Given the description of an element on the screen output the (x, y) to click on. 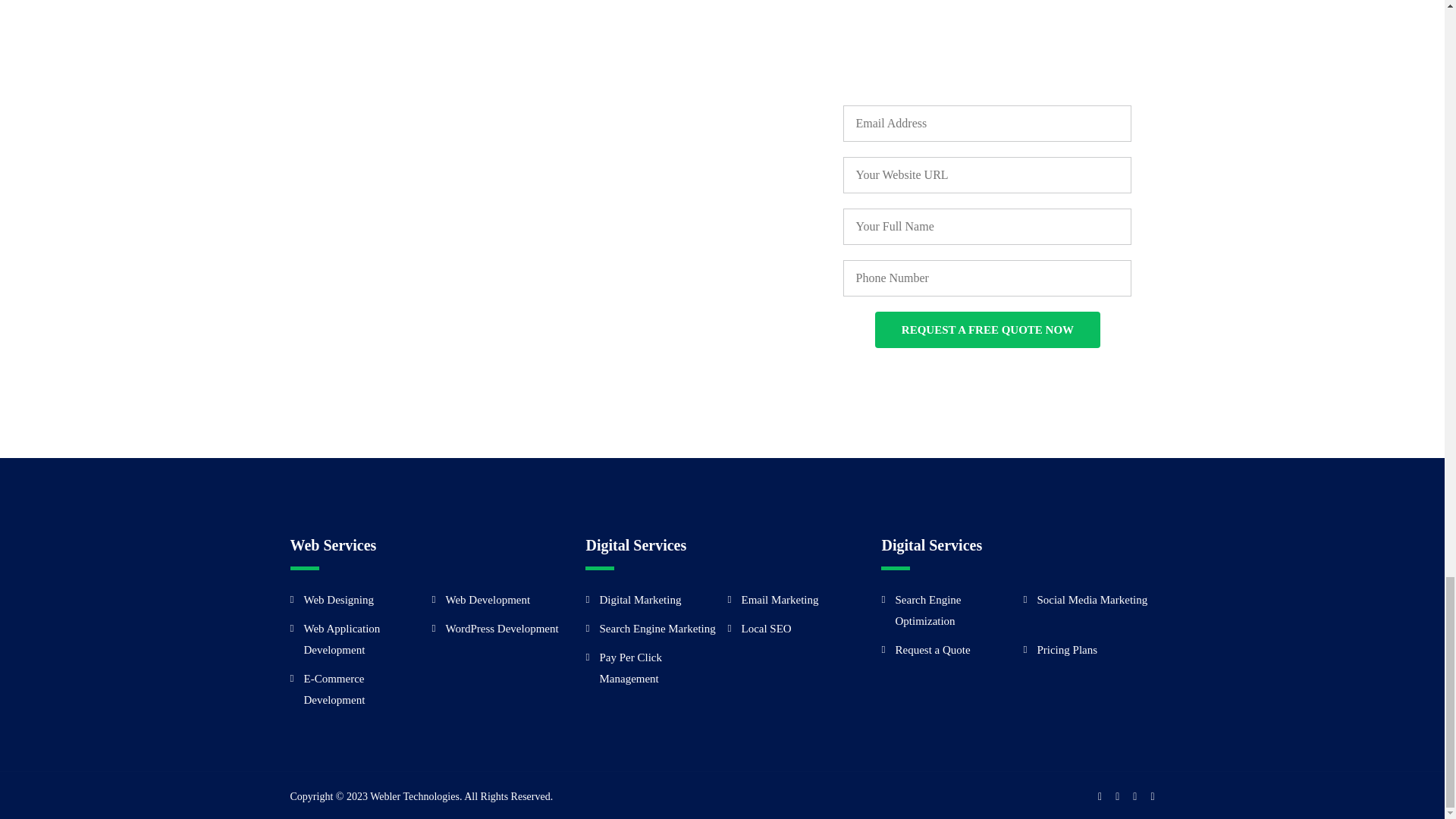
REQUEST A FREE QUOTE NOW (987, 330)
